Given the description of an element on the screen output the (x, y) to click on. 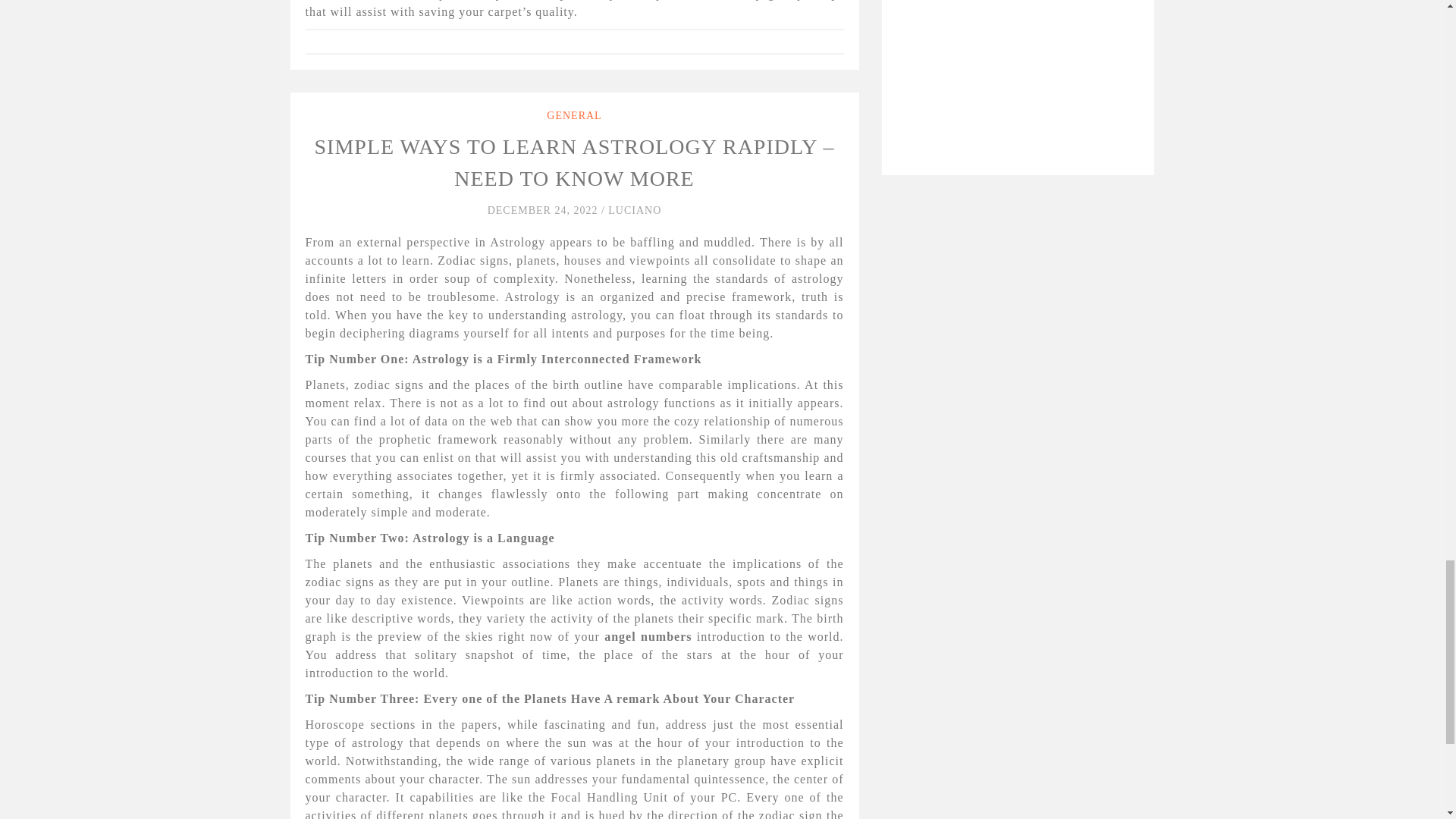
DECEMBER 24, 2022 (544, 210)
GENERAL (574, 115)
angel numbers (647, 635)
Posts by Luciano (634, 210)
LUCIANO (634, 210)
